Given the description of an element on the screen output the (x, y) to click on. 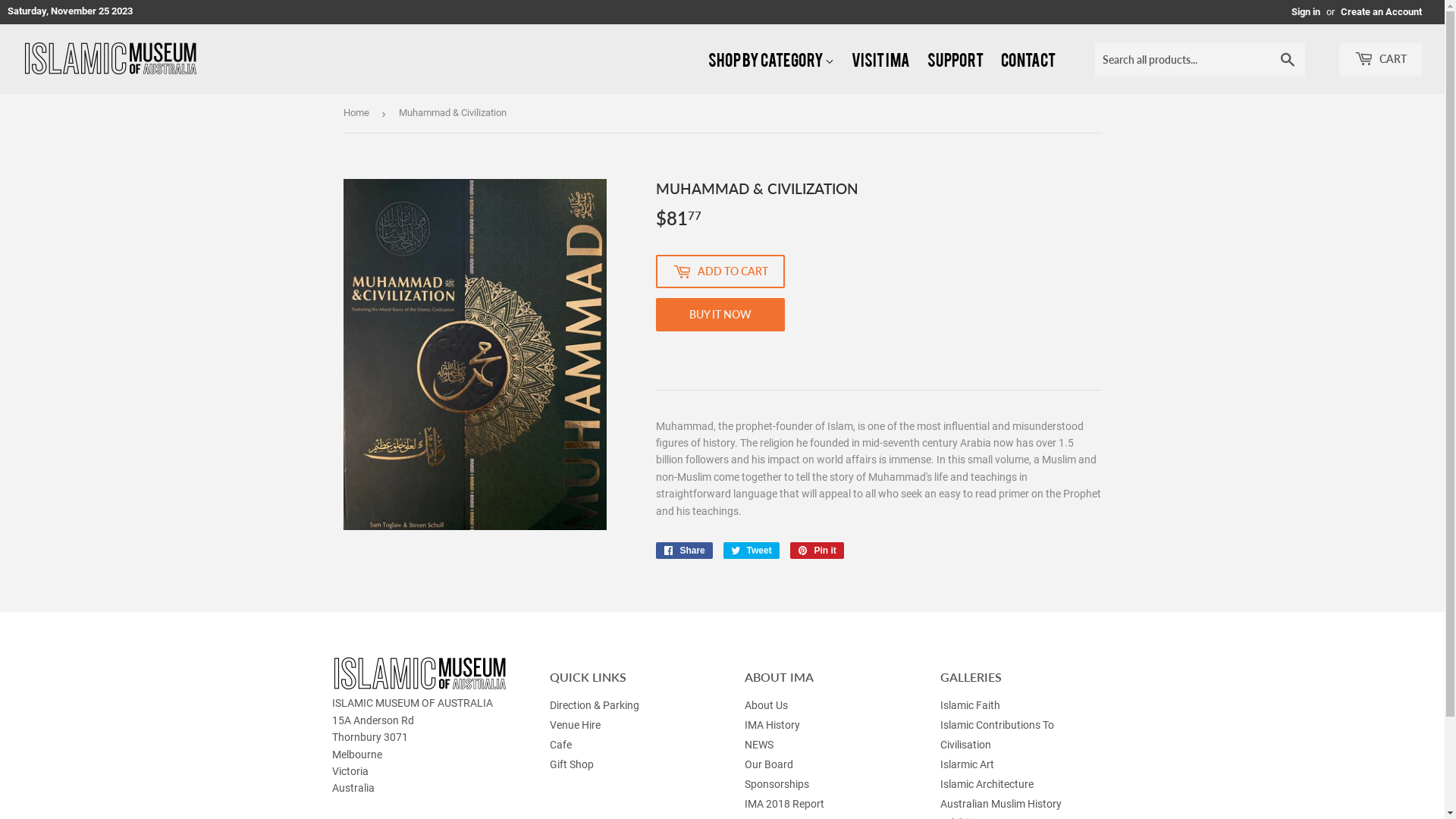
Venue Hire Element type: text (574, 724)
Create an Account Element type: text (1380, 11)
Sign in Element type: text (1305, 11)
Islamic Faith Element type: text (970, 705)
IMA History Element type: text (772, 724)
Civilisation Element type: text (965, 744)
BUY IT NOW Element type: text (719, 314)
Islamic Contributions To Element type: text (997, 724)
SHOP BY CATEGORY Element type: text (779, 70)
SUPPORT Element type: text (963, 70)
Home Element type: text (357, 113)
Pin it
Pin on Pinterest Element type: text (817, 550)
About Us Element type: text (765, 705)
VISIT IMA Element type: text (888, 70)
Search Element type: text (1287, 60)
ADD TO CART Element type: text (719, 271)
Share
Share on Facebook Element type: text (683, 550)
Our Board Element type: text (768, 764)
CONTACT Element type: text (1036, 70)
Islarmic Art Element type: text (967, 764)
Islamic Architecture Element type: text (986, 784)
Tweet
Tweet on Twitter Element type: text (751, 550)
Direction & Parking Element type: text (594, 705)
Sponsorships Element type: text (776, 784)
Cafe Element type: text (560, 744)
Australian Muslim History Element type: text (1000, 803)
Gift Shop Element type: text (571, 764)
CART Element type: text (1380, 59)
IMA 2018 Report Element type: text (784, 803)
NEWS Element type: text (758, 744)
